Given the description of an element on the screen output the (x, y) to click on. 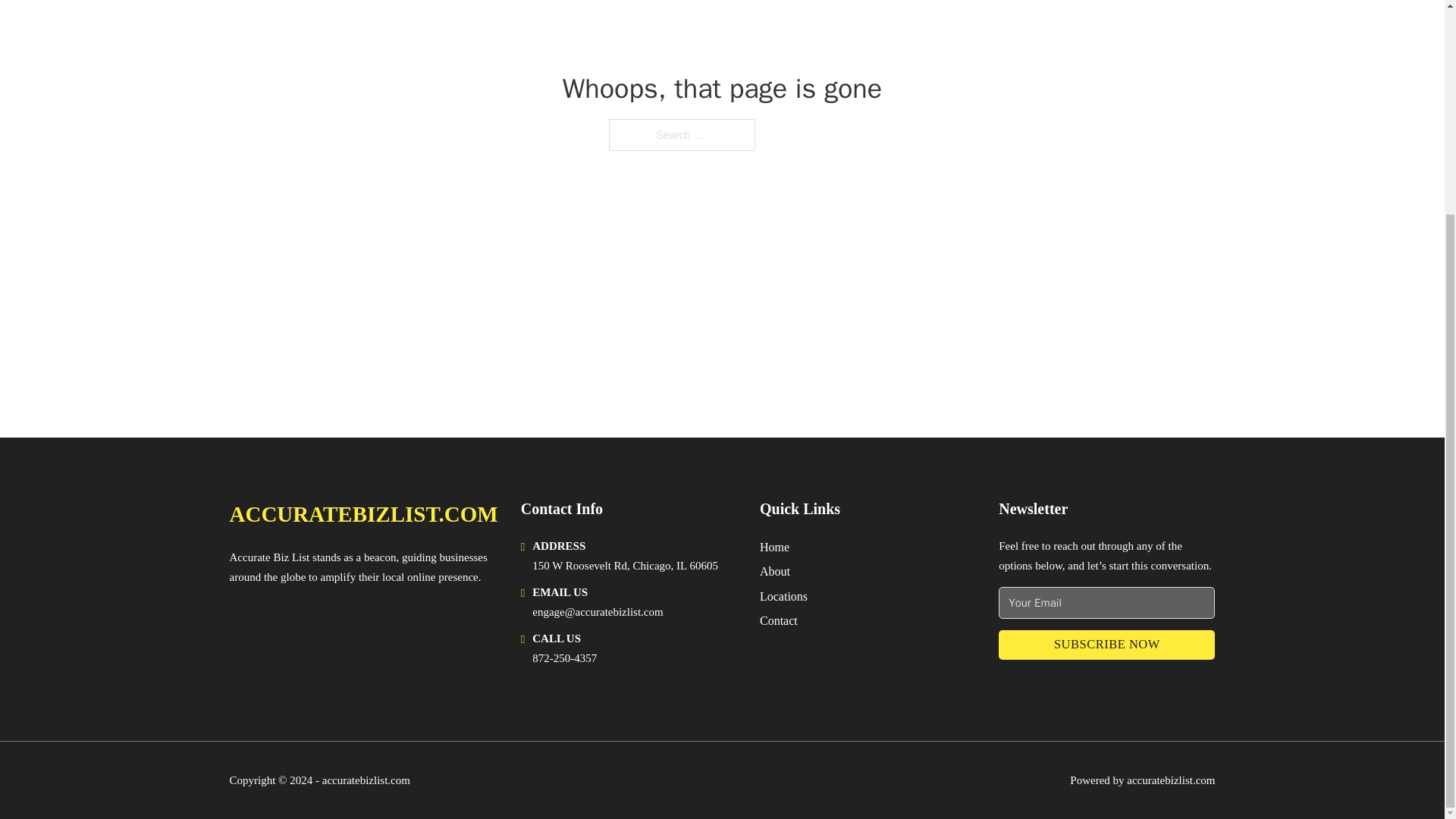
Locations (784, 596)
SUBSCRIBE NOW (1106, 644)
872-250-4357 (564, 657)
Contact (778, 620)
About (775, 571)
Home (774, 547)
ACCURATEBIZLIST.COM (362, 514)
